Given the description of an element on the screen output the (x, y) to click on. 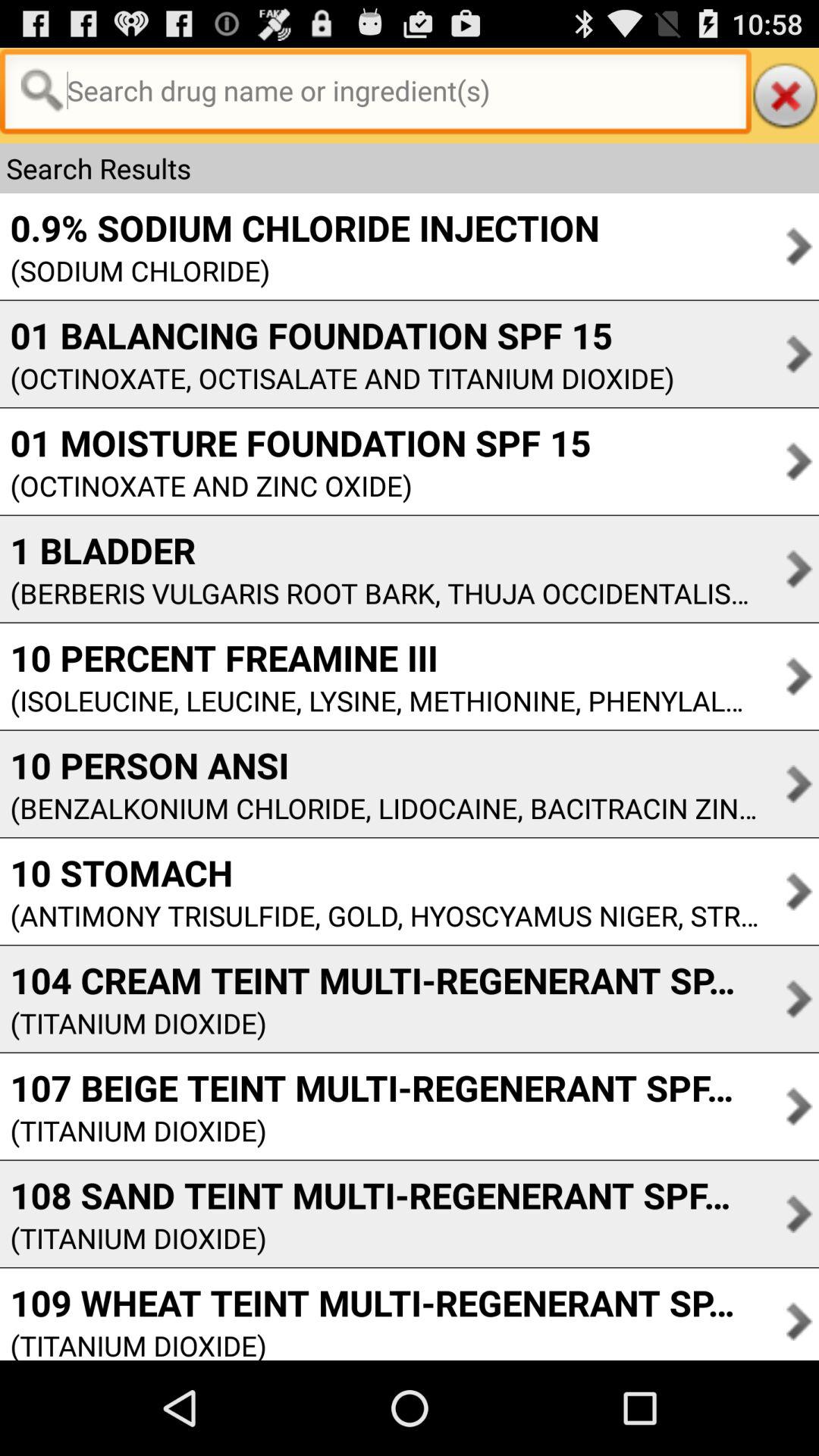
swipe until berberis vulgaris root (379, 592)
